Given the description of an element on the screen output the (x, y) to click on. 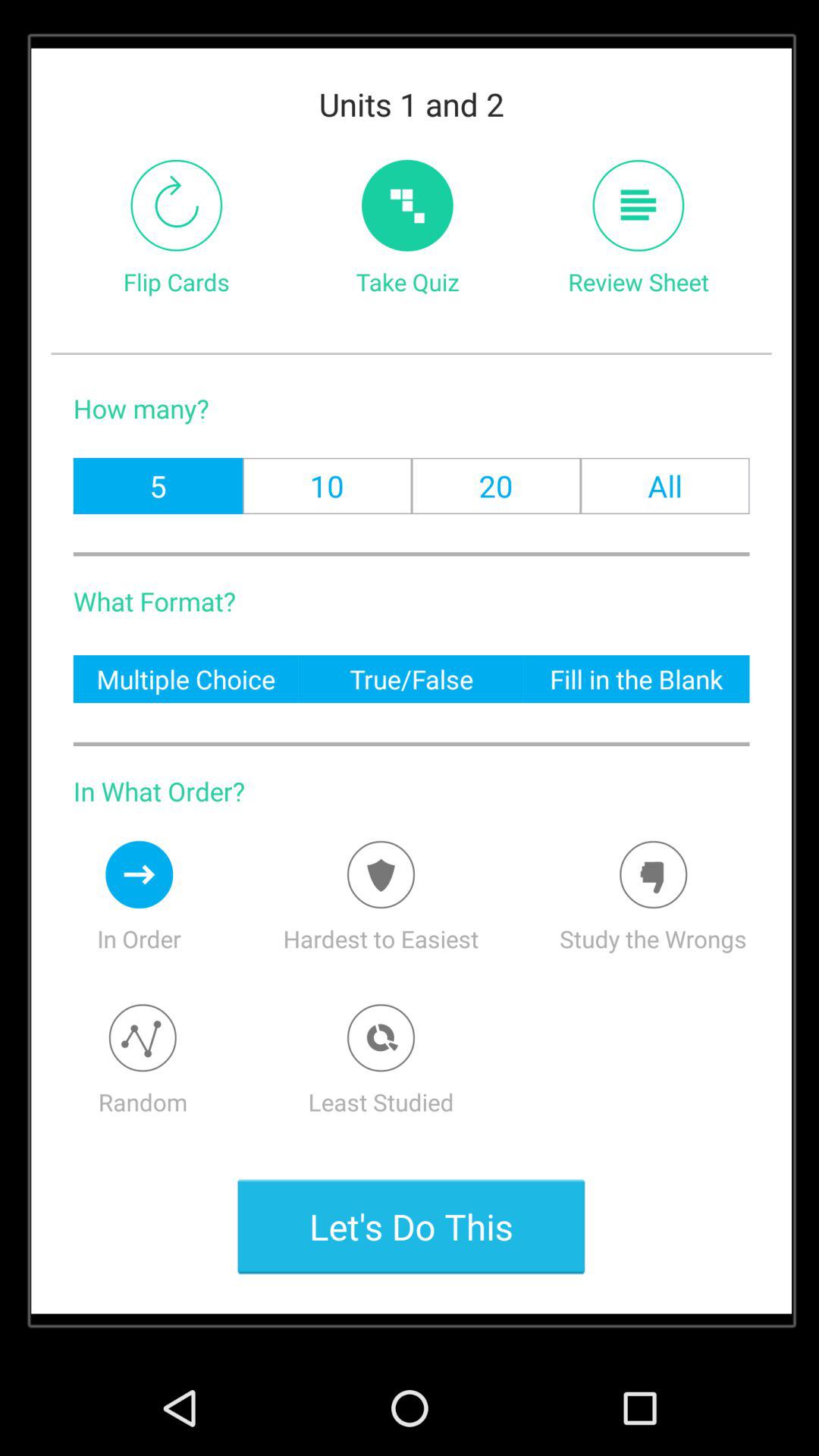
select random order (142, 1037)
